Given the description of an element on the screen output the (x, y) to click on. 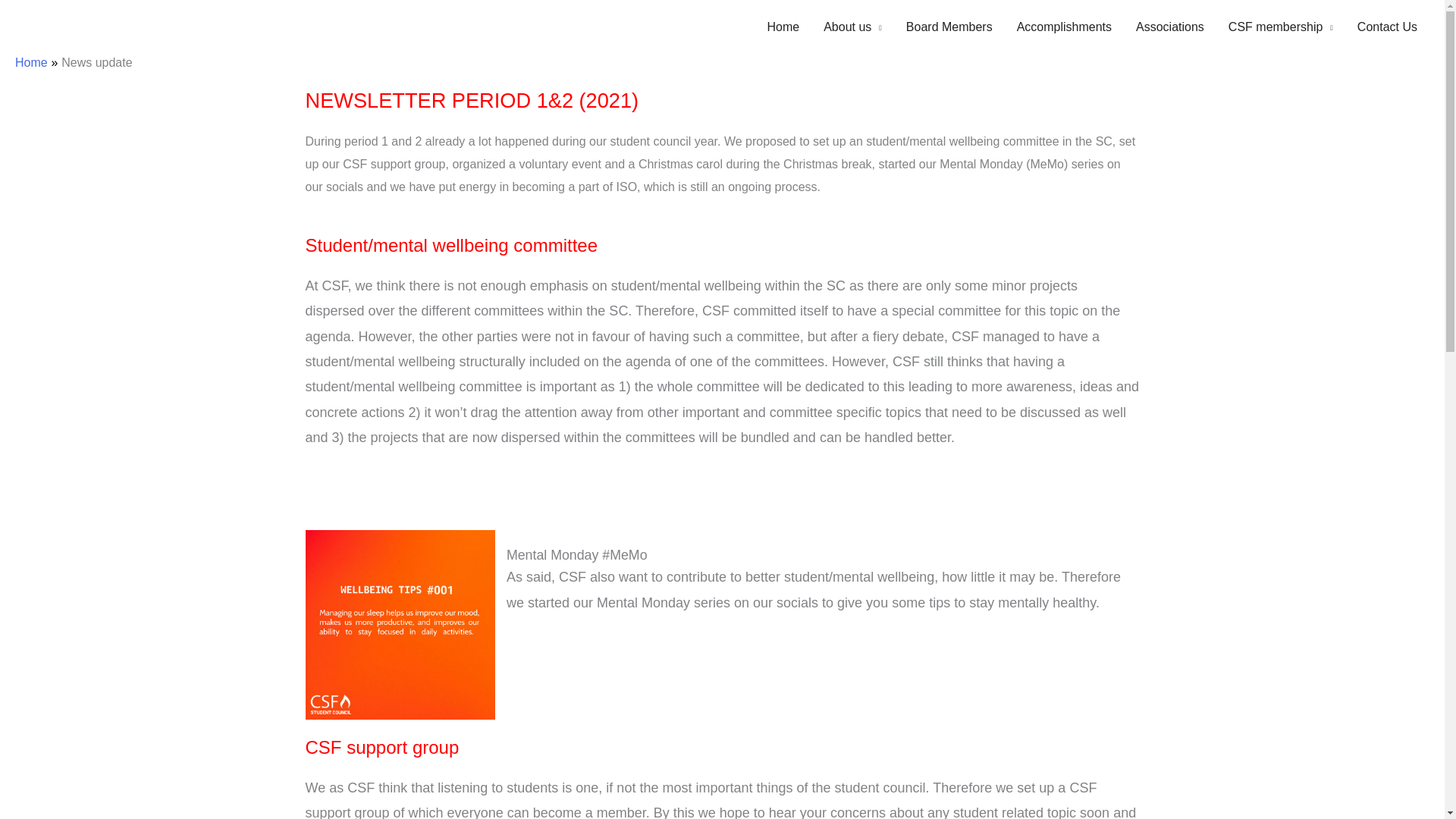
Home (31, 62)
Associations (1169, 27)
CSF membership (1280, 27)
Home (782, 27)
Contact Us (1387, 27)
Accomplishments (1064, 27)
About us (851, 27)
Board Members (948, 27)
